Given the description of an element on the screen output the (x, y) to click on. 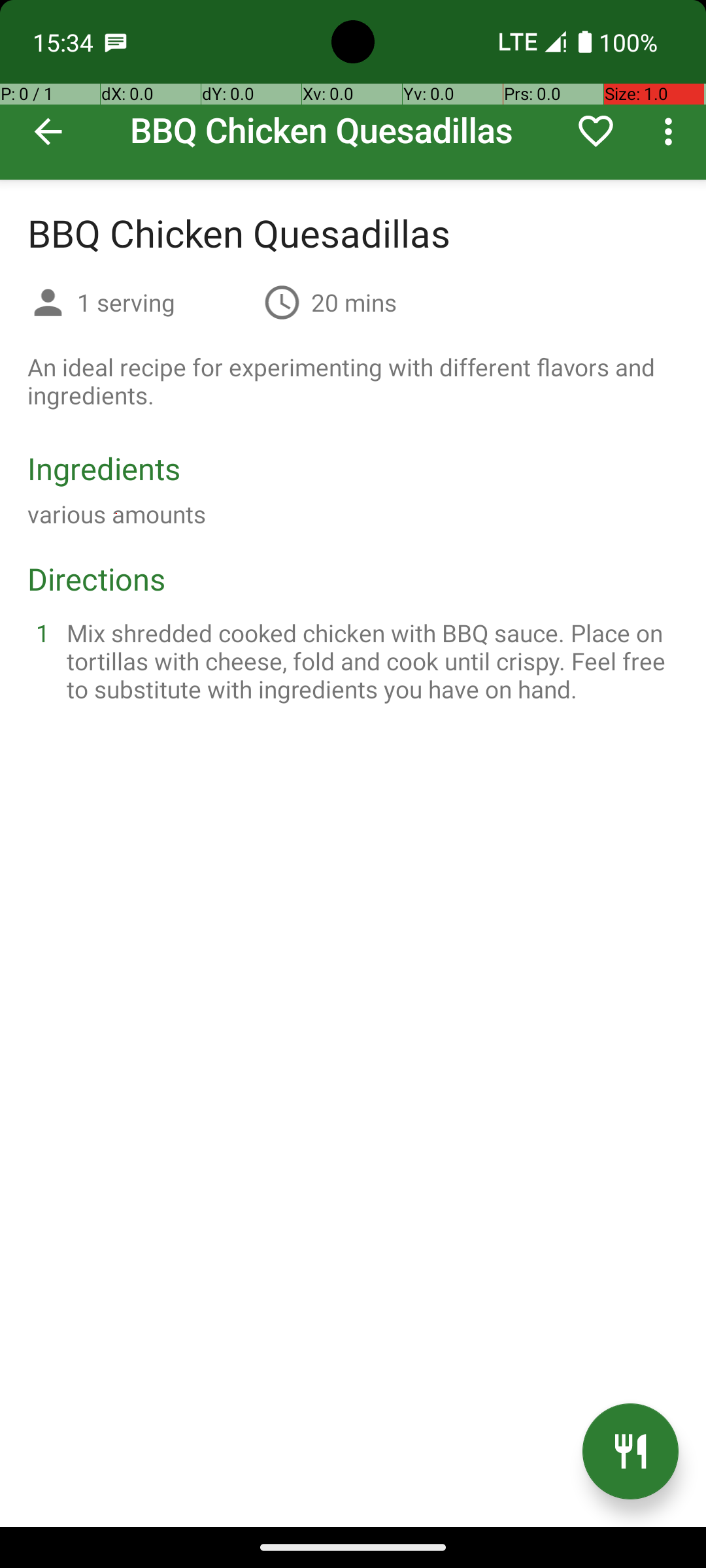
Mix shredded cooked chicken with BBQ sauce. Place on tortillas with cheese, fold and cook until crispy. Feel free to substitute with ingredients you have on hand. Element type: android.widget.TextView (368, 660)
SMS Messenger notification: Isla da Silva Element type: android.widget.ImageView (115, 41)
